Given the description of an element on the screen output the (x, y) to click on. 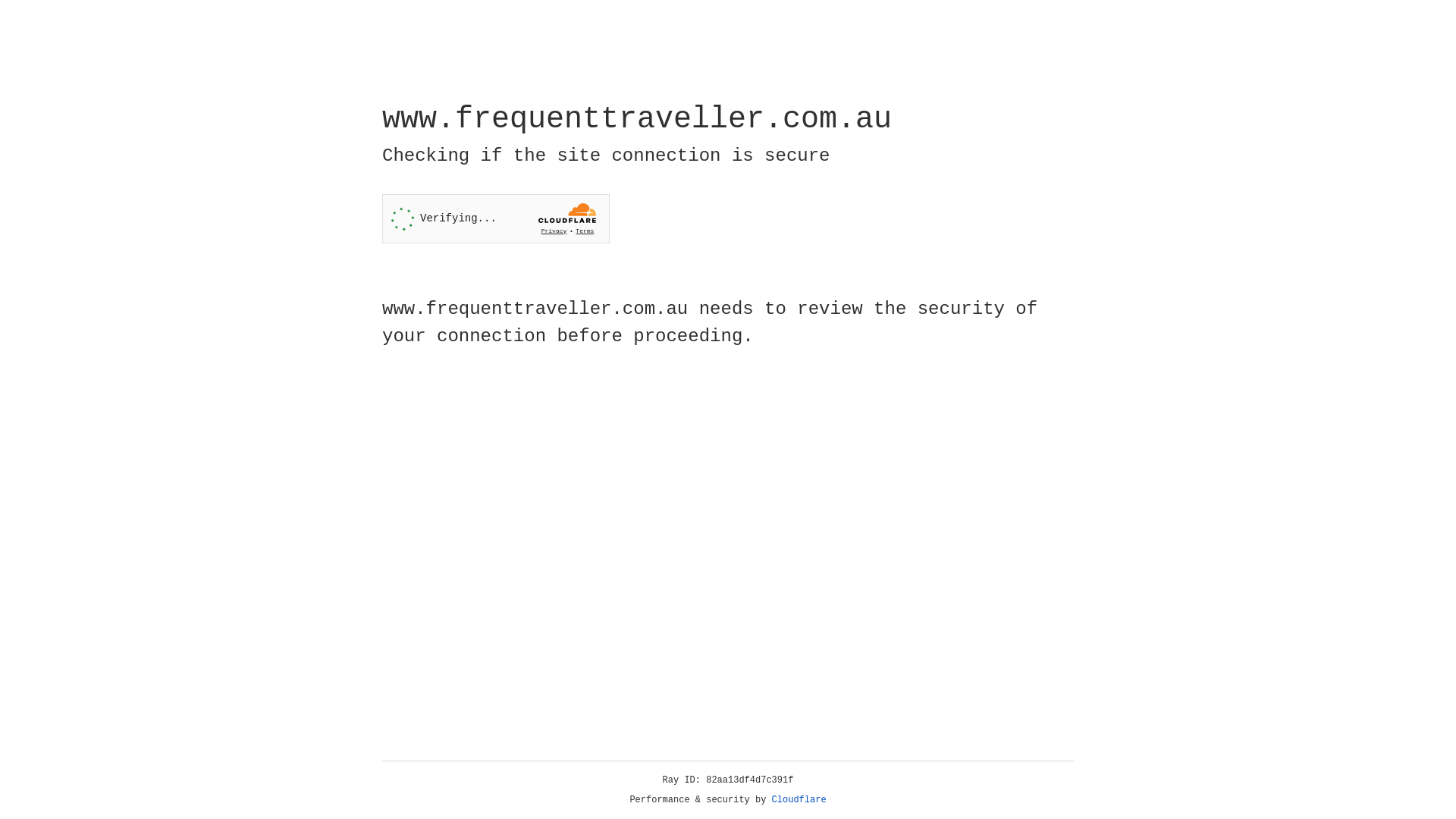
Cloudflare Element type: text (798, 799)
Widget containing a Cloudflare security challenge Element type: hover (495, 218)
